Given the description of an element on the screen output the (x, y) to click on. 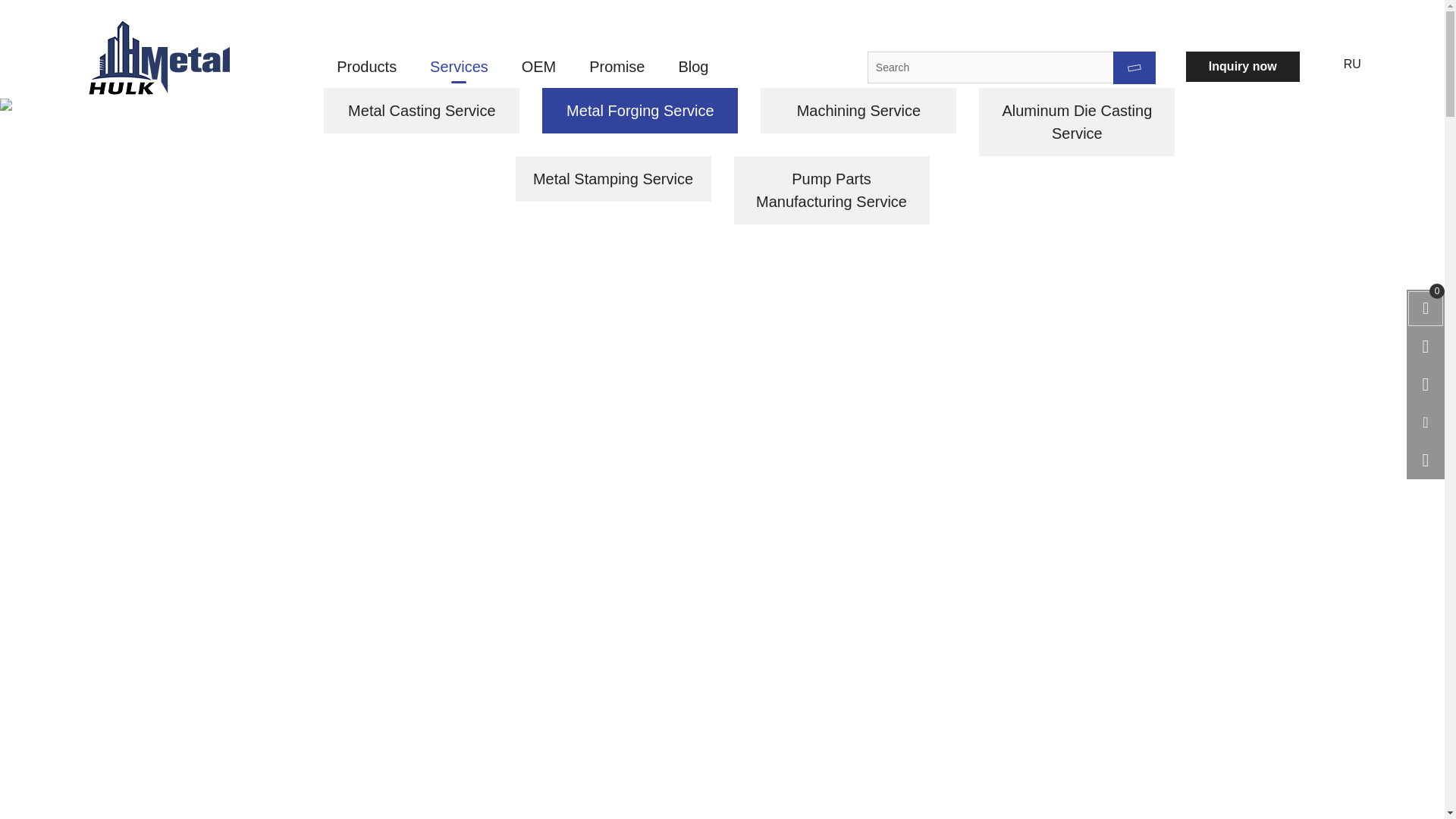
Products (366, 66)
About HULK Metal (389, 17)
Contact Us (547, 17)
